Given the description of an element on the screen output the (x, y) to click on. 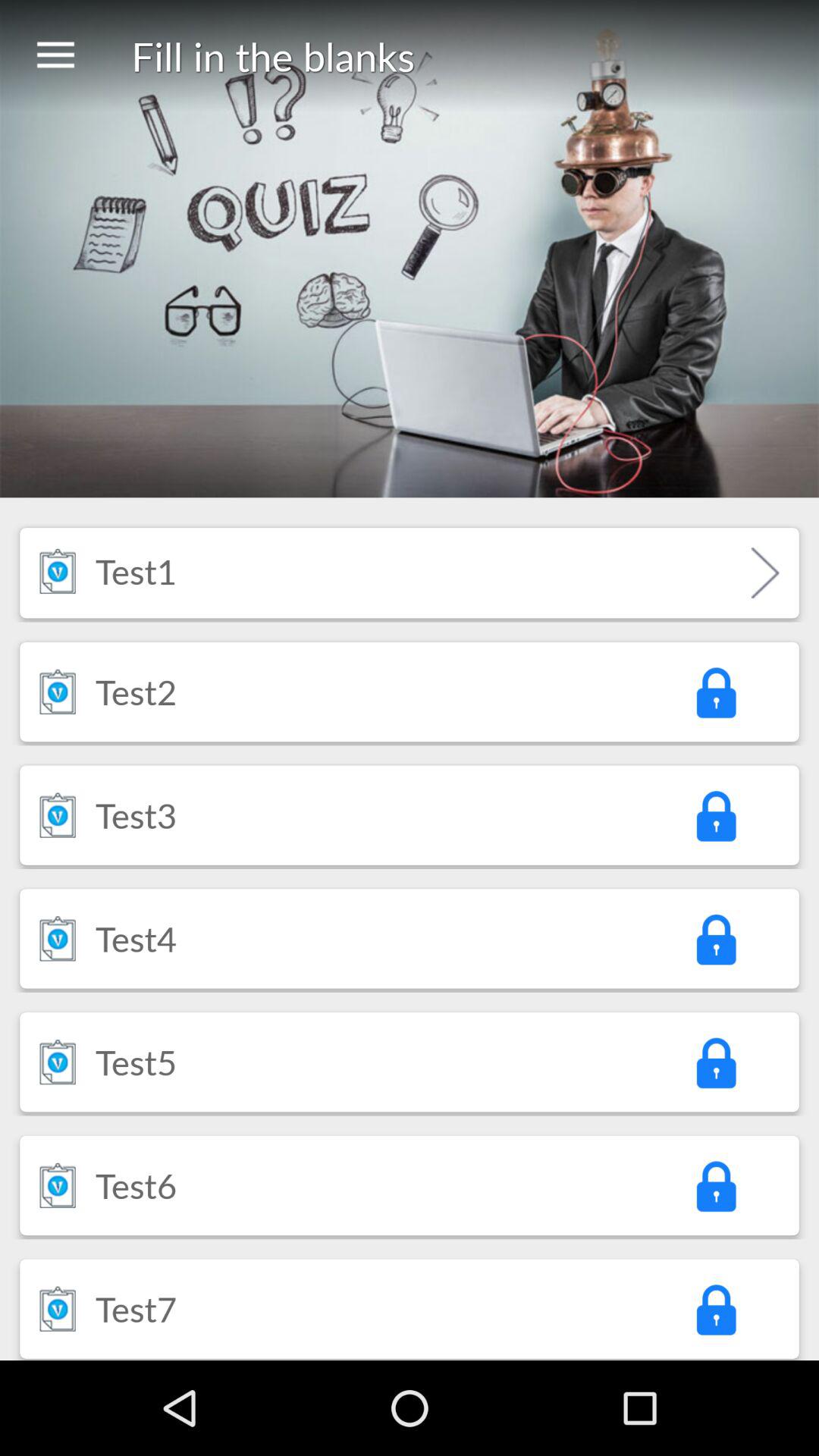
press the item at the top left corner (55, 55)
